Given the description of an element on the screen output the (x, y) to click on. 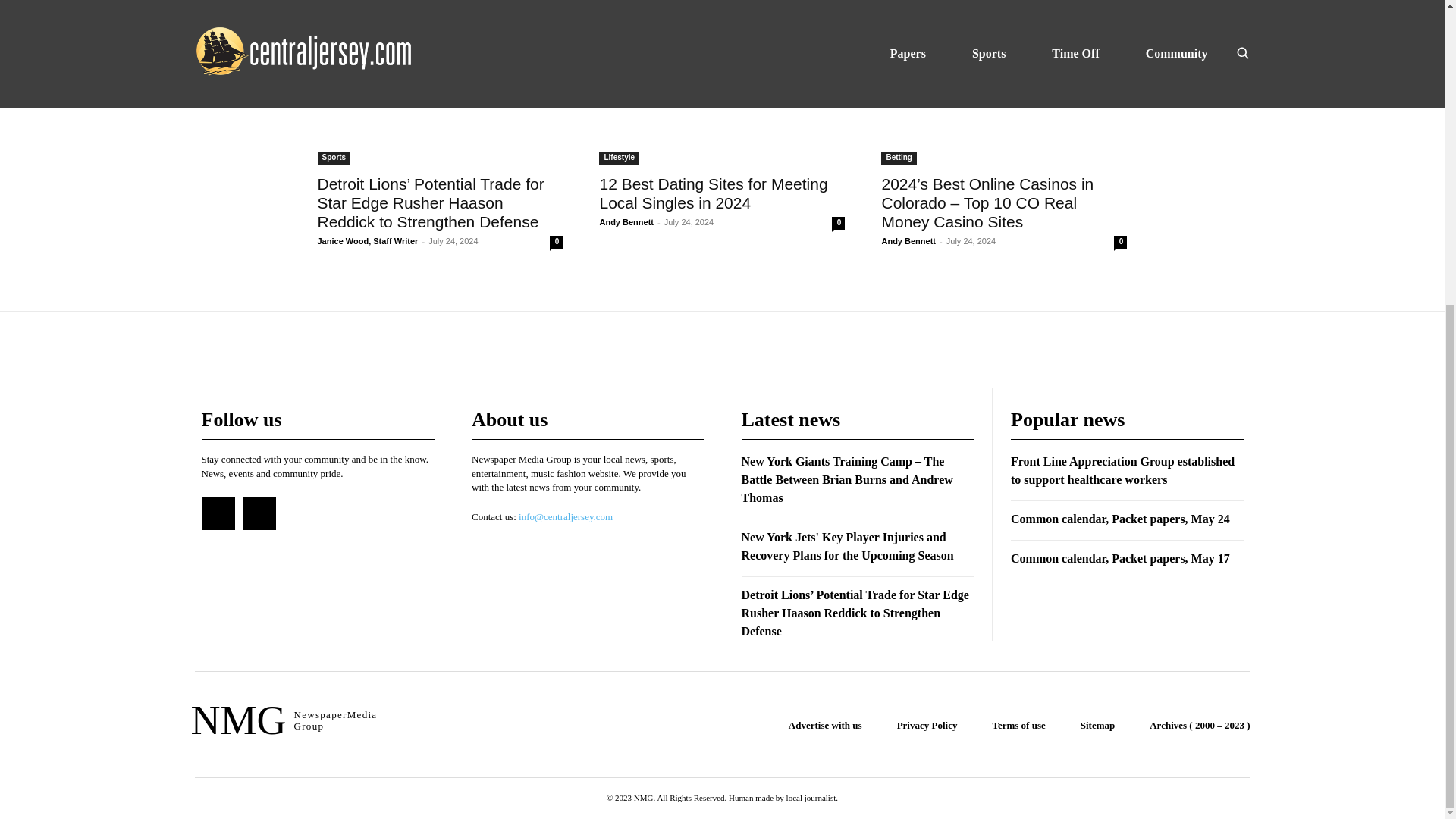
Janice Wood, Staff Writer (367, 92)
Sports (333, 10)
12 Best Dating Sites for Meeting Local Singles in 2024 (712, 193)
0 (556, 93)
Betting (615, 10)
12 Best Dating Sites for Meeting Local Singles in 2024 (721, 148)
